Given the description of an element on the screen output the (x, y) to click on. 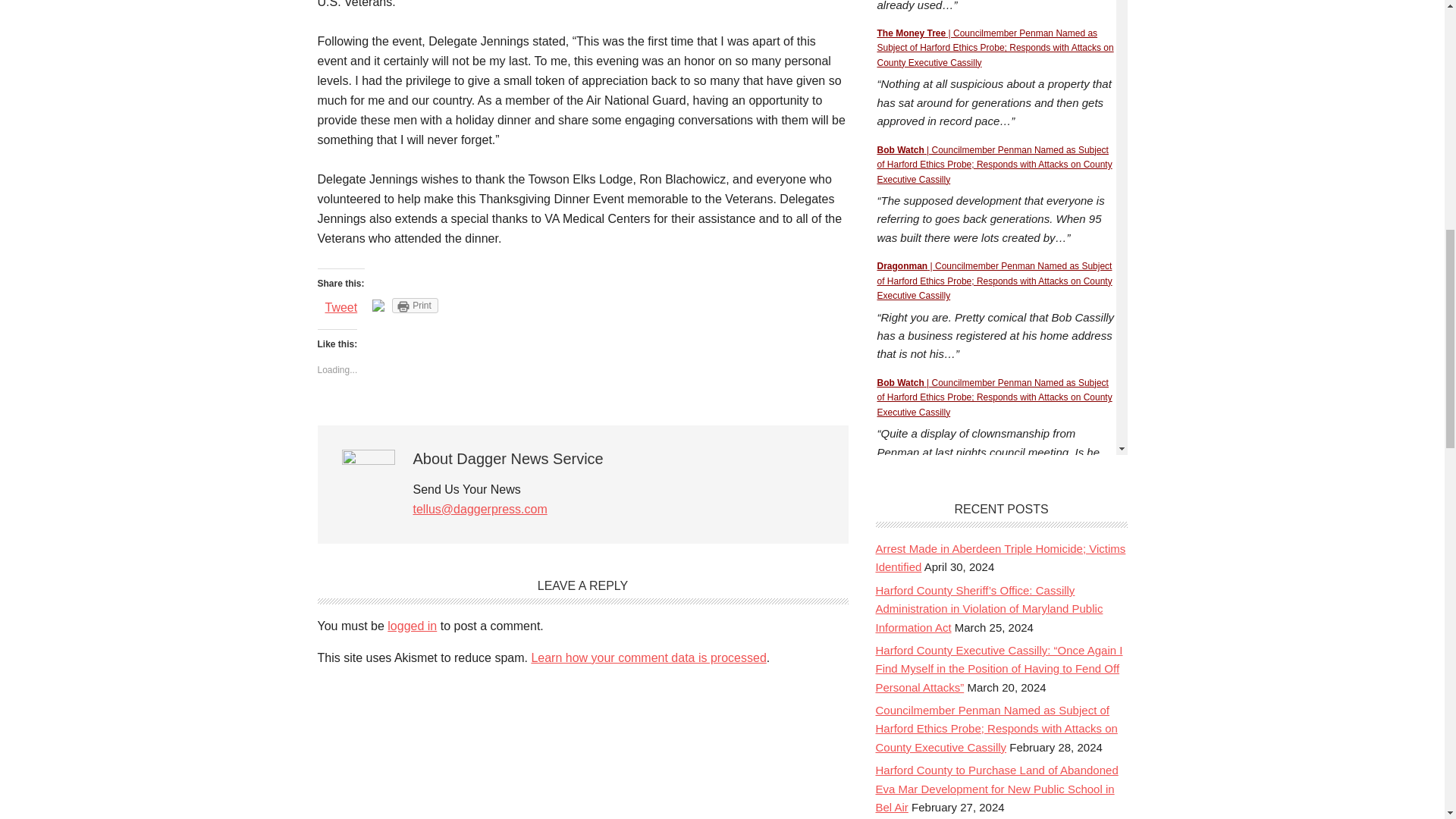
Tweet (340, 307)
Learn how your comment data is processed (648, 657)
Print (414, 305)
Click to print (414, 305)
logged in (411, 625)
